Given the description of an element on the screen output the (x, y) to click on. 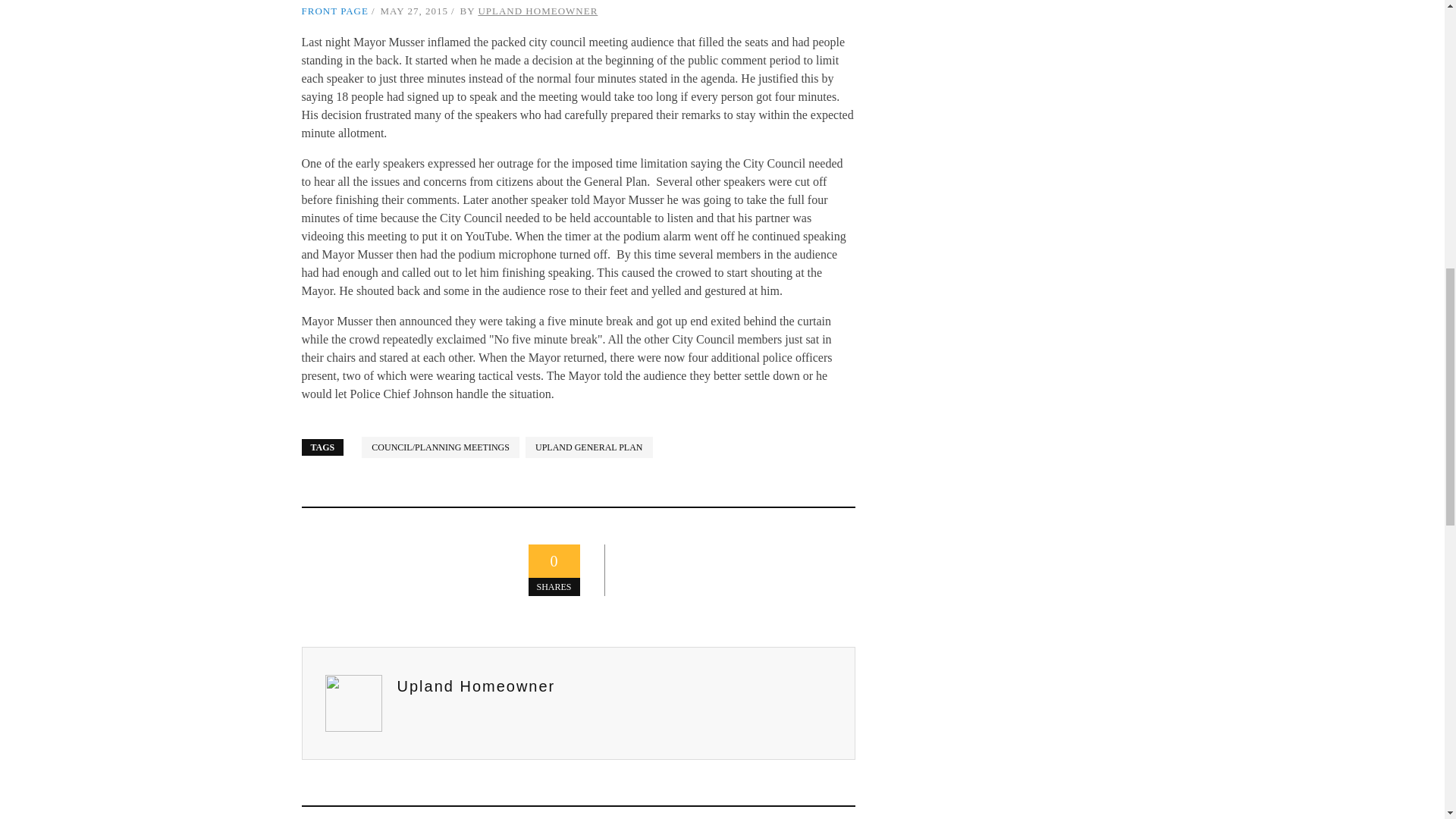
View all posts tagged Upland General Plan (588, 446)
